Given the description of an element on the screen output the (x, y) to click on. 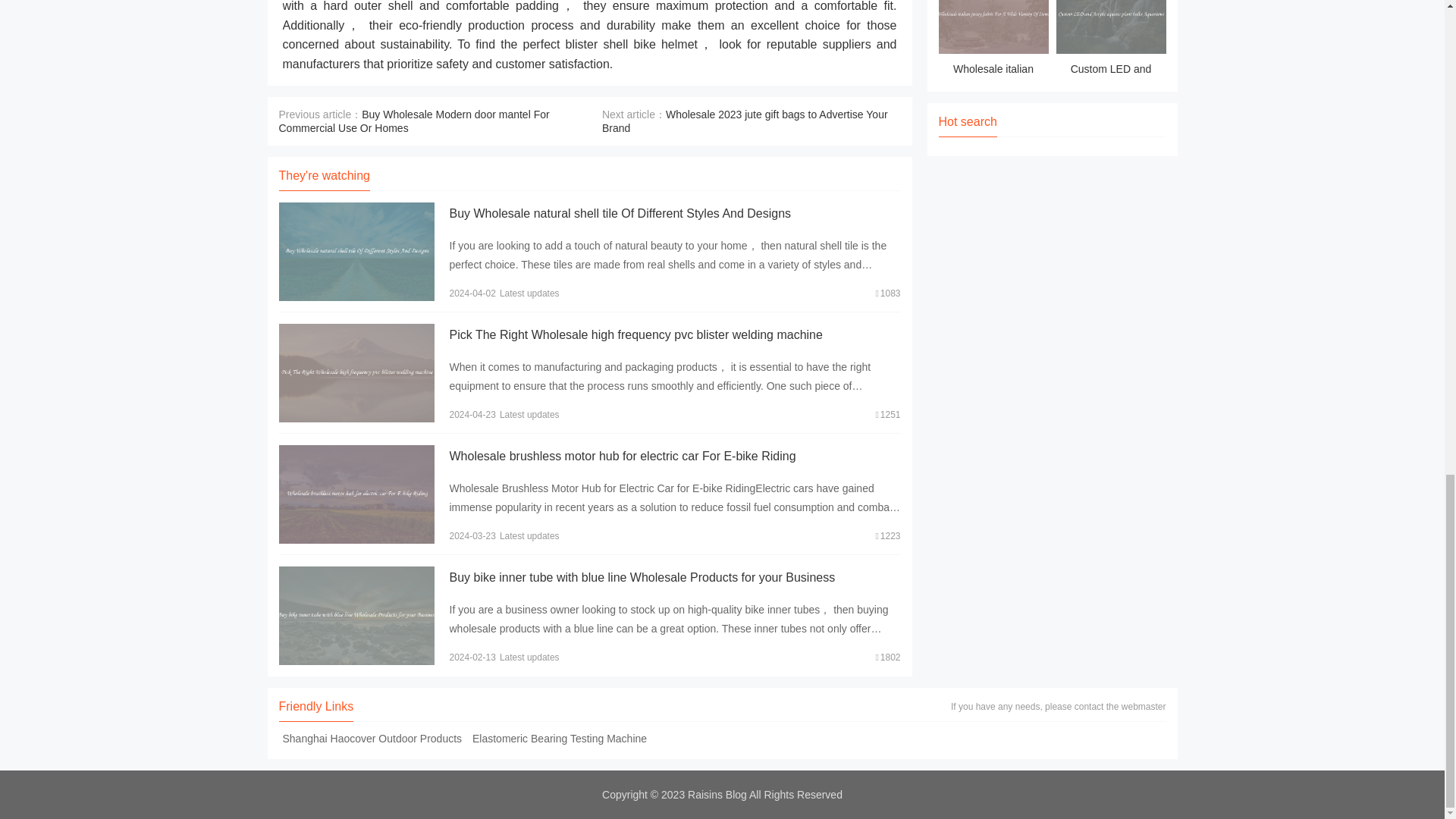
Elastomeric Bearing Testing Machine (559, 738)
Wholesale italian jersey fabric For A Wide Variety Of Items (993, 40)
Custom LED and Acrylic aquatic plant bulbs Aquariums (1110, 40)
Wholesale 2023 jute gift bags to Advertise Your Brand (745, 121)
Shanghai Haocover Outdoor Products (372, 738)
Buy Wholesale Modern door mantel For Commercial Use Or Homes (414, 121)
